Given the description of an element on the screen output the (x, y) to click on. 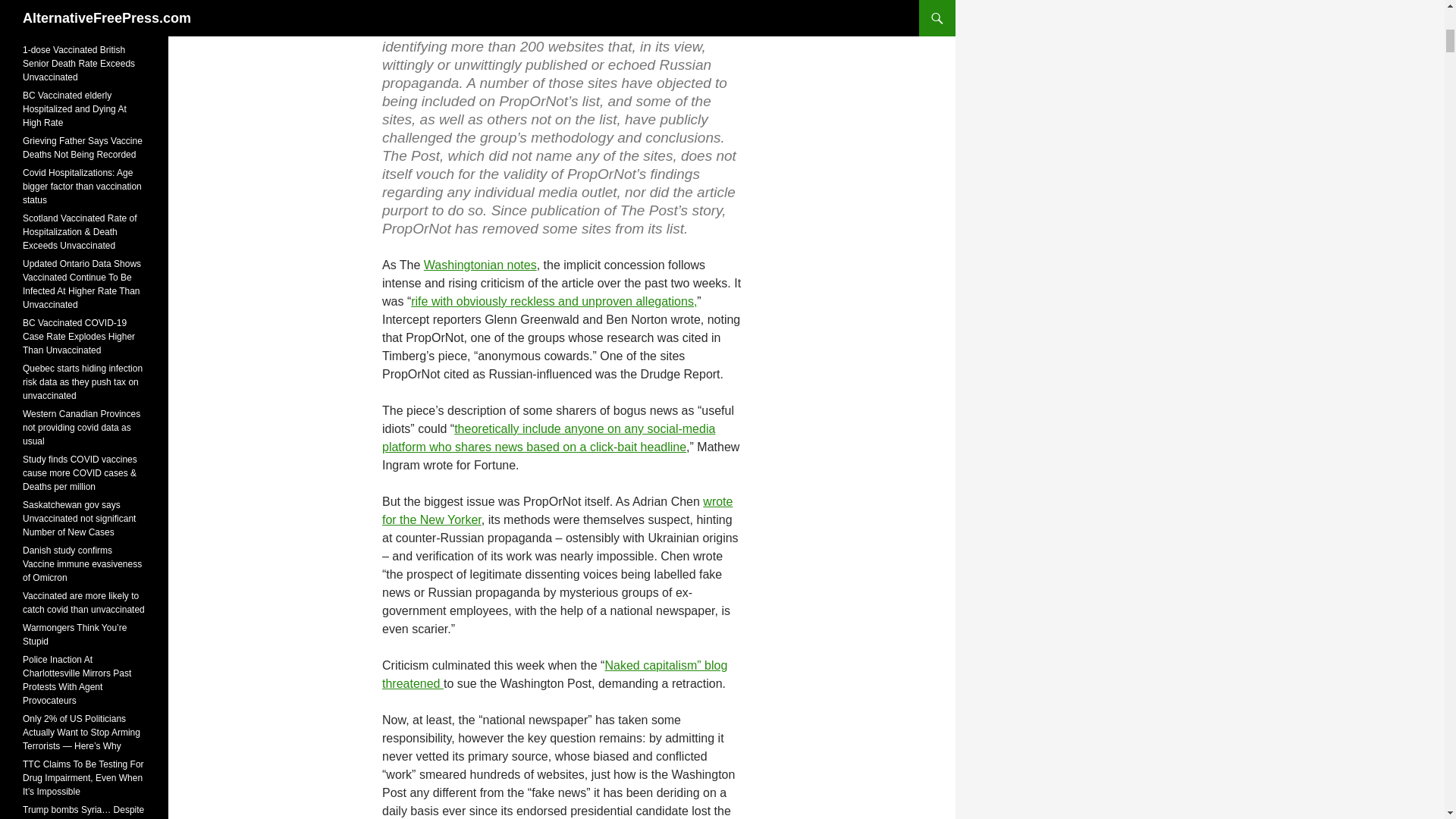
BC Vaccinated elderly Hospitalized and Dying At High Rate (74, 108)
wrote for the New Yorker (556, 510)
rife with obviously reckless and unproven allegations, (553, 300)
Washingtonian notes (480, 264)
